Given the description of an element on the screen output the (x, y) to click on. 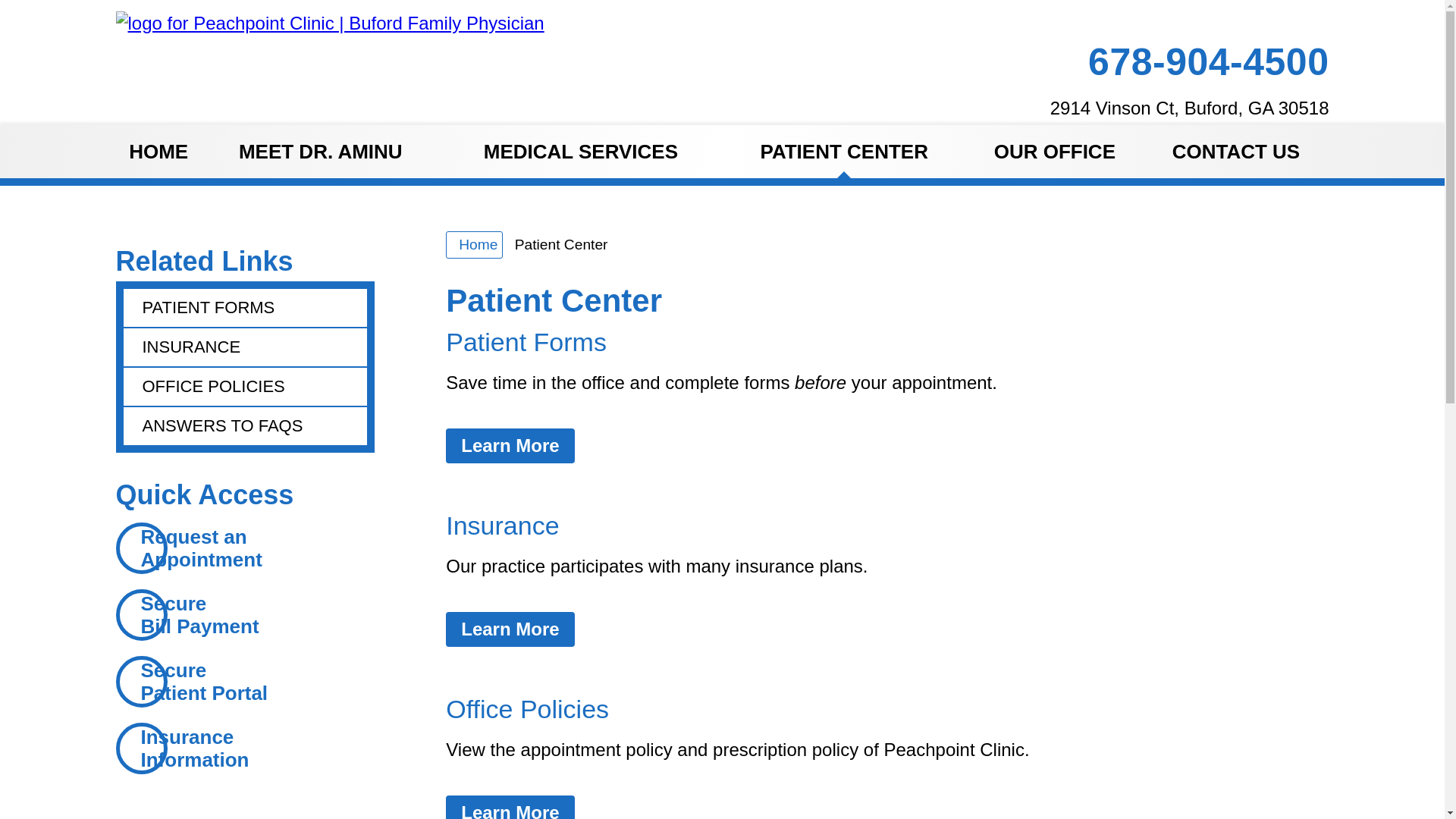
MEDICAL SERVICES (580, 151)
Home (473, 244)
  2914 Vinson Ct, Buford, GA 30518 (1183, 108)
 678-904-4500 (1203, 64)
Learn More (509, 629)
HOME (157, 151)
Learn More (509, 445)
OFFICE POLICIES (244, 386)
